Given the description of an element on the screen output the (x, y) to click on. 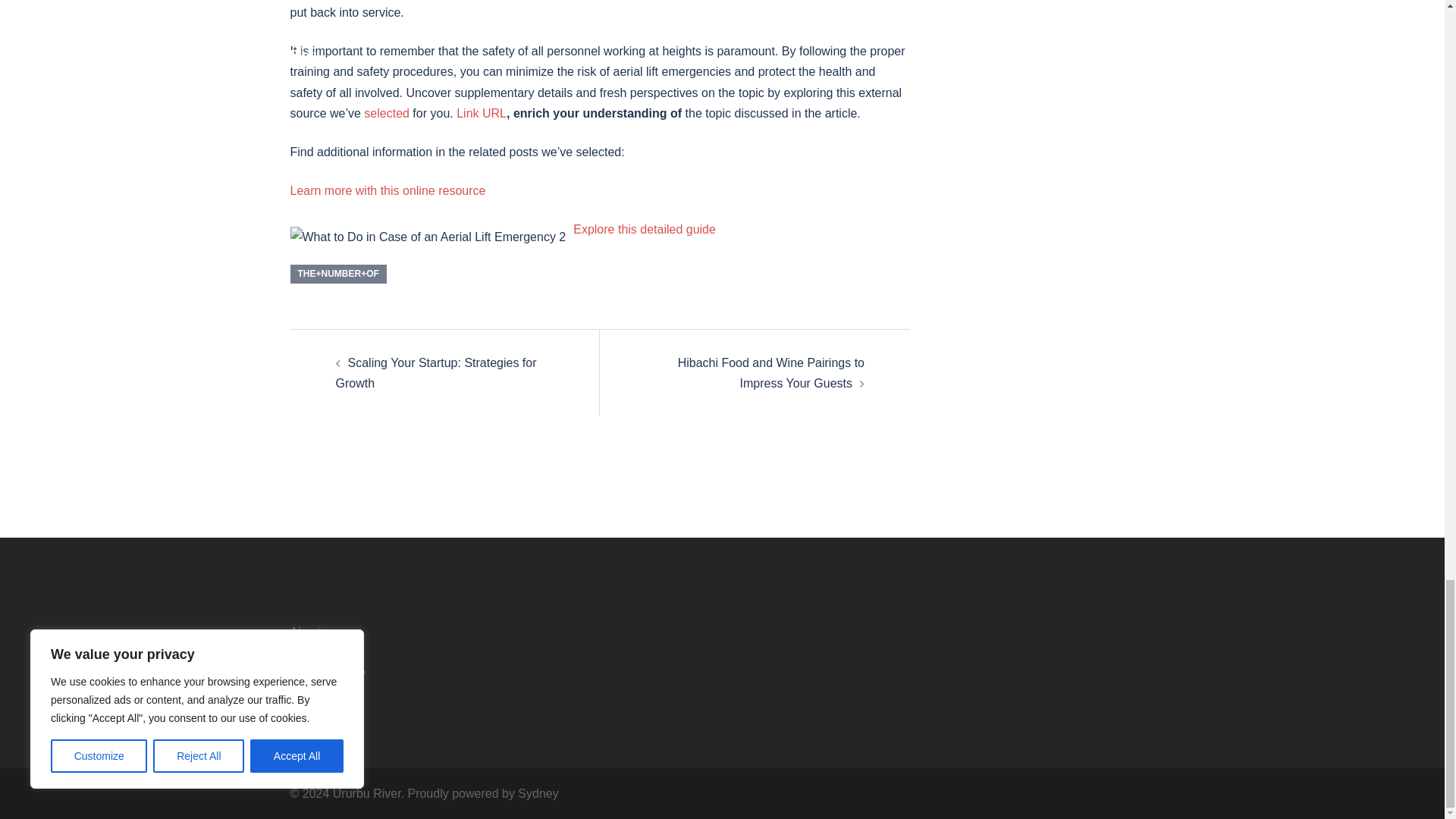
Learn more with this online resource (386, 190)
selected (386, 113)
Scaling Your Startup: Strategies for Growth (434, 372)
Hibachi Food and Wine Pairings to Impress Your Guests (771, 372)
Link URL (481, 113)
Explore this detailed guide (644, 228)
